Given the description of an element on the screen output the (x, y) to click on. 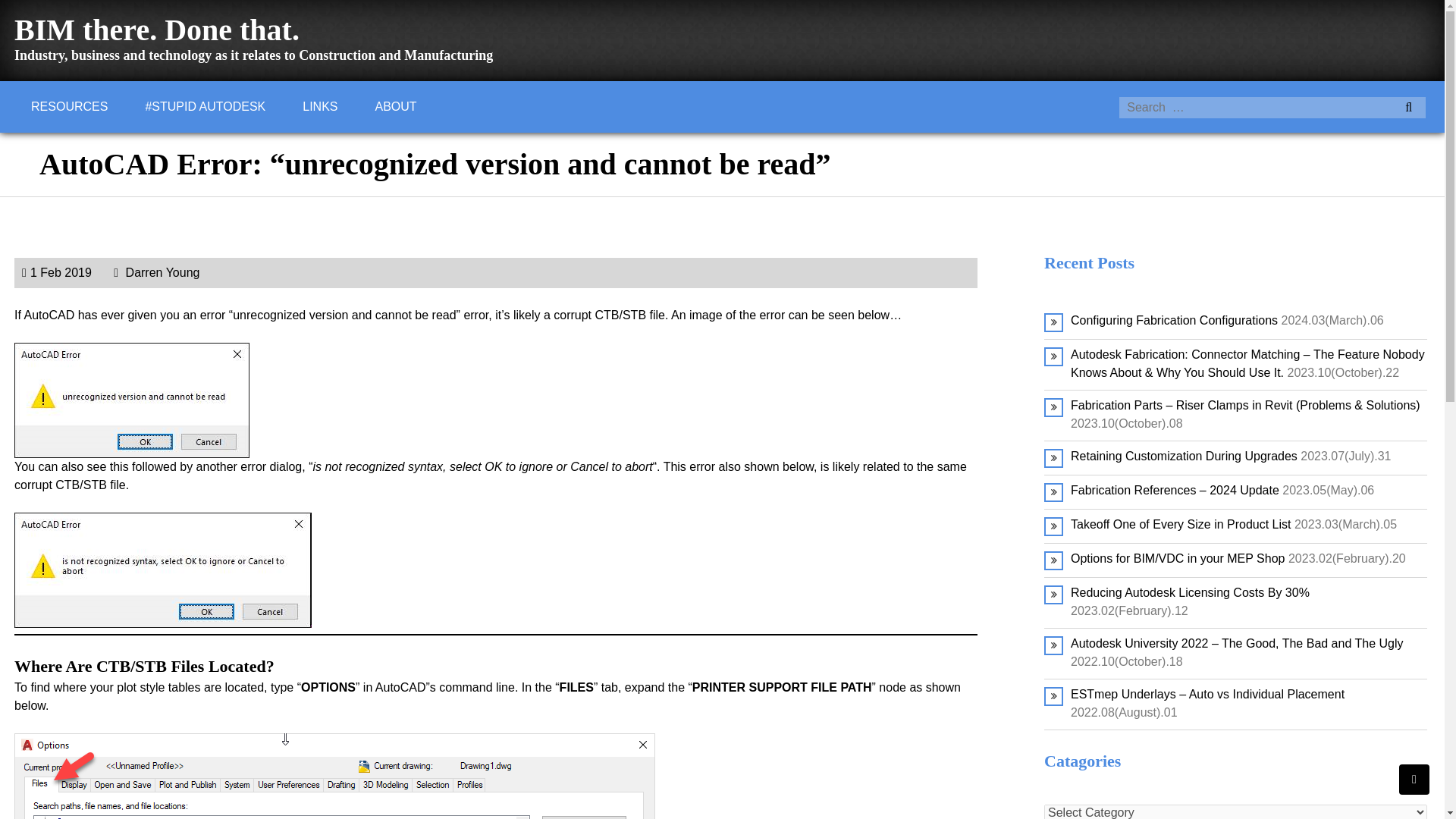
ABOUT (395, 106)
Retaining Customization During Upgrades (1183, 455)
1 Feb 2019 (56, 272)
Darren Young (156, 272)
Configuring Fabrication Configurations (1174, 319)
BIM there. Done that. (156, 29)
LINKS (319, 106)
RESOURCES (68, 106)
